Given the description of an element on the screen output the (x, y) to click on. 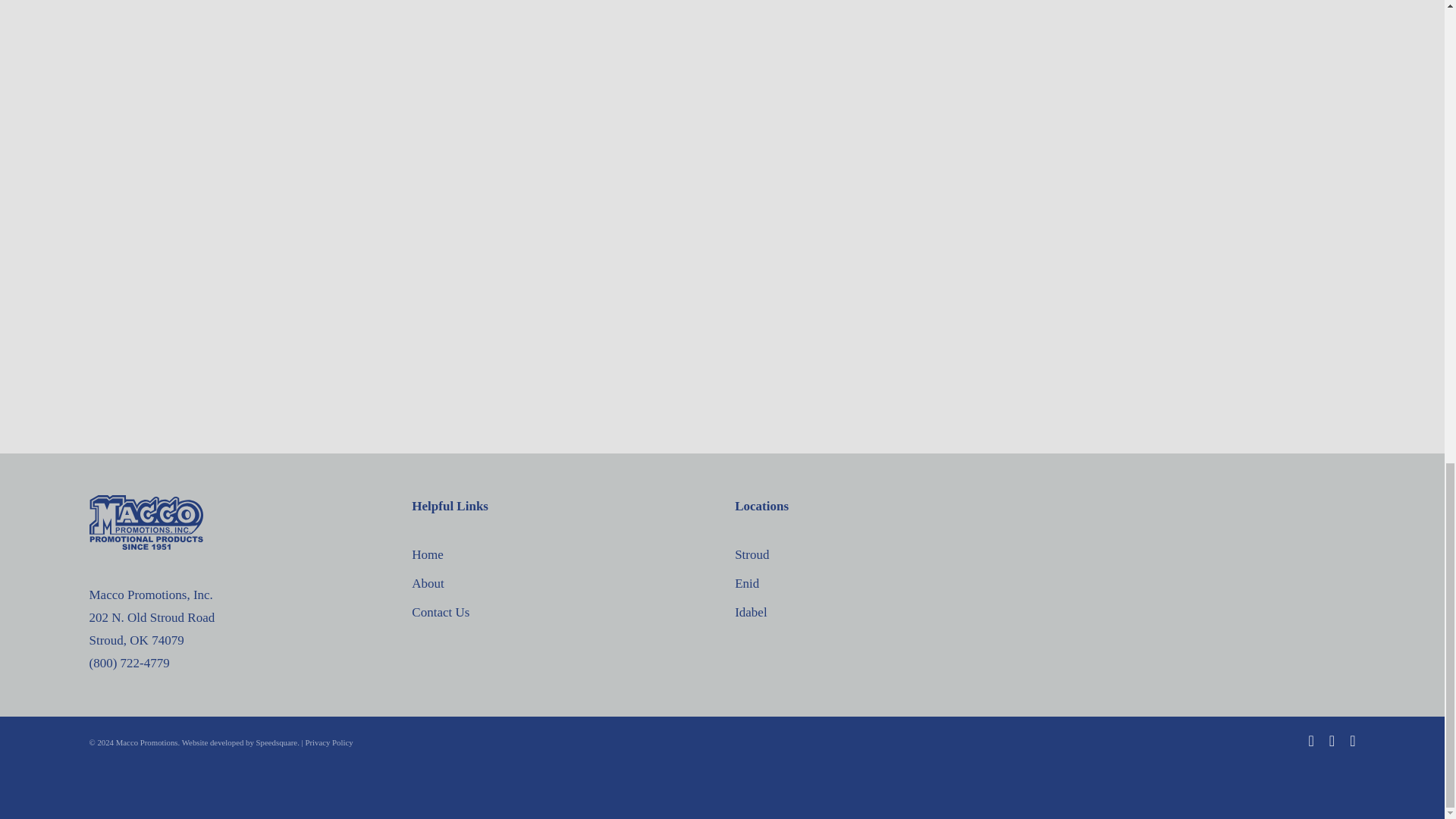
Speedsquare (277, 741)
Enid (883, 583)
Stroud (883, 554)
About (560, 583)
Home (560, 554)
Contact Us (560, 612)
Privacy Policy (328, 741)
Idabel (883, 612)
